Given the description of an element on the screen output the (x, y) to click on. 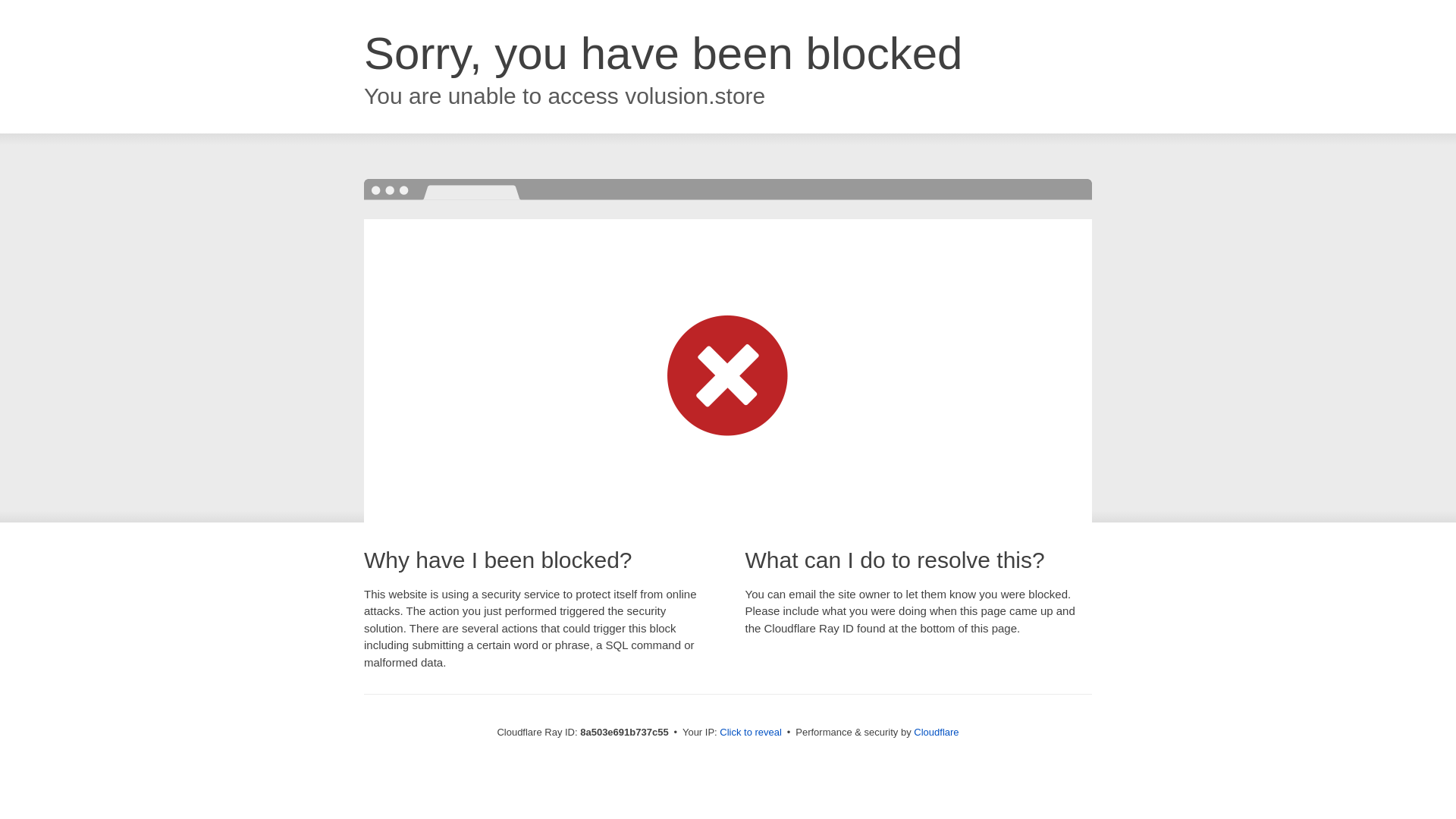
Click to reveal (750, 732)
Cloudflare (936, 731)
